Given the description of an element on the screen output the (x, y) to click on. 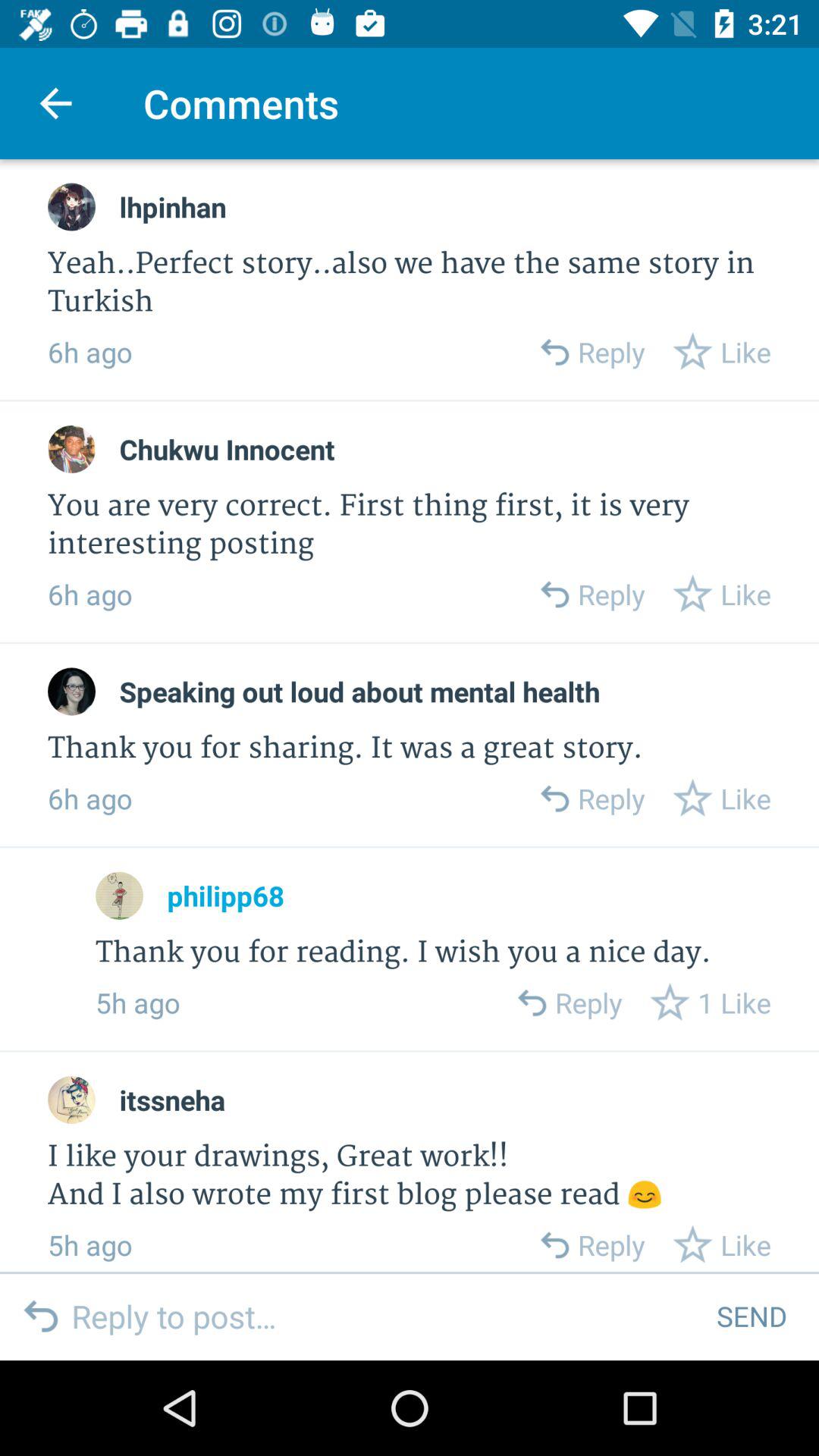
reply to comment (531, 1002)
